Given the description of an element on the screen output the (x, y) to click on. 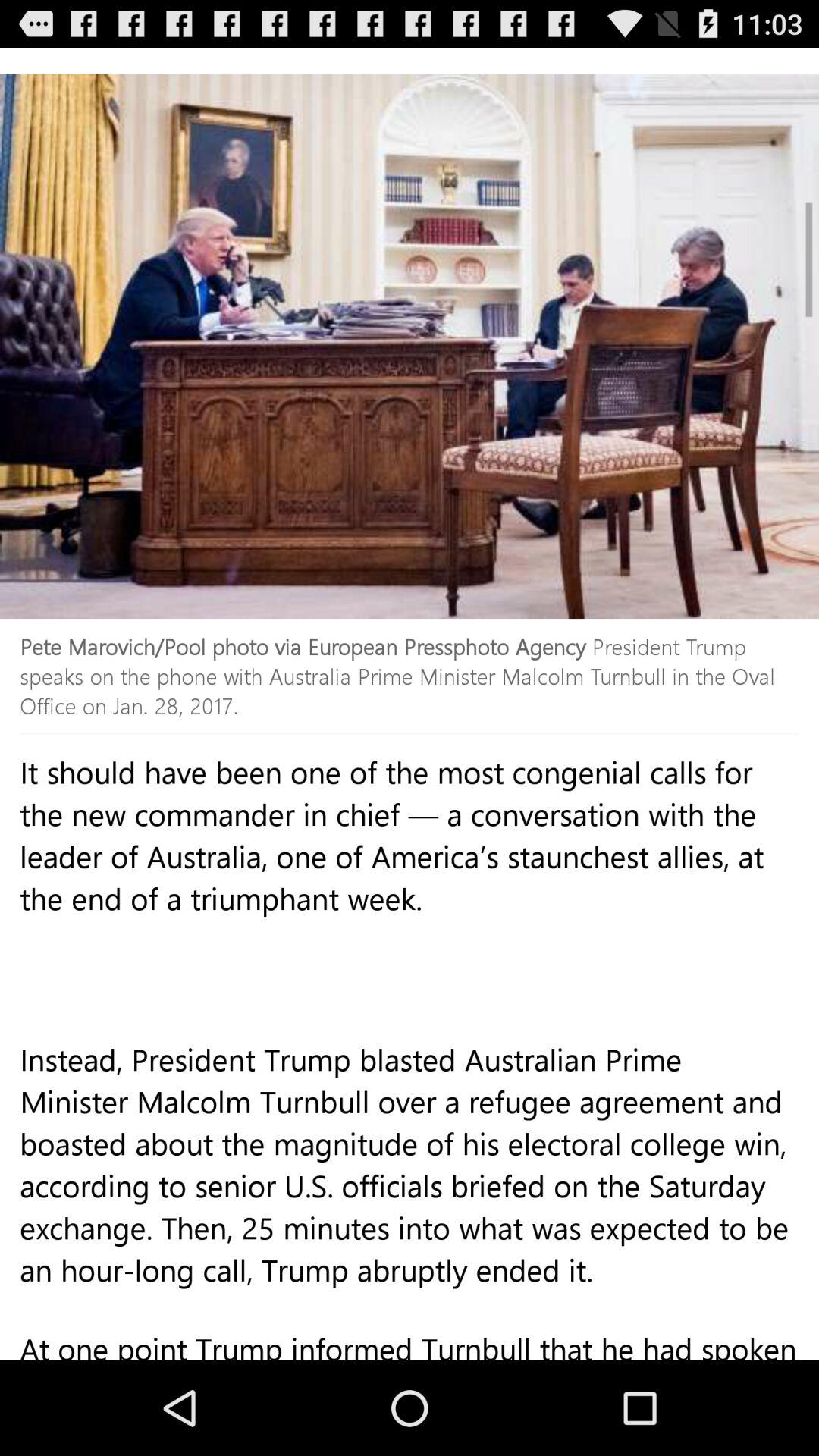
press the item below instead president trump (409, 1351)
